Given the description of an element on the screen output the (x, y) to click on. 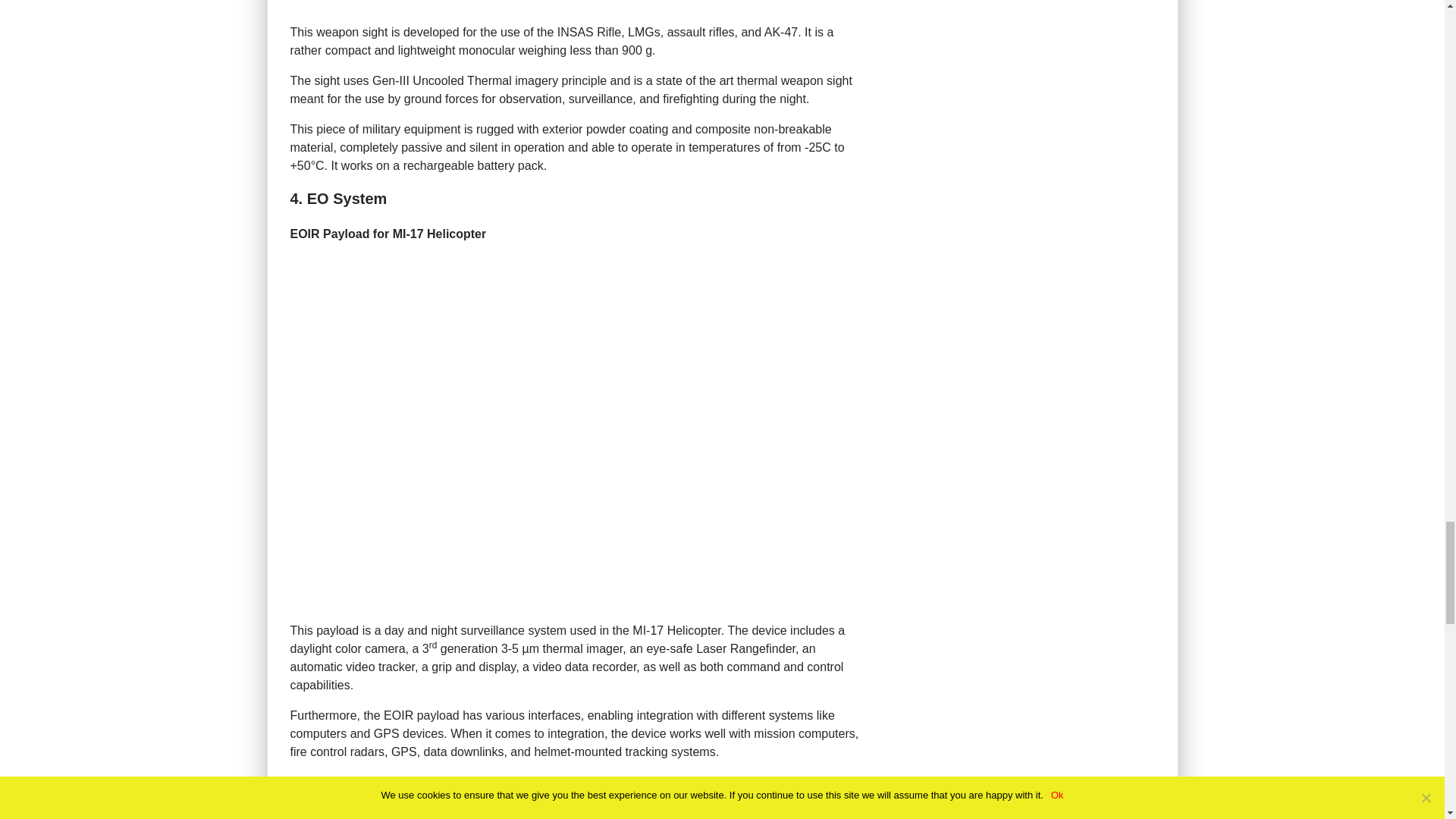
Gadgets To Buy Under 500 Rs (387, 809)
